Given the description of an element on the screen output the (x, y) to click on. 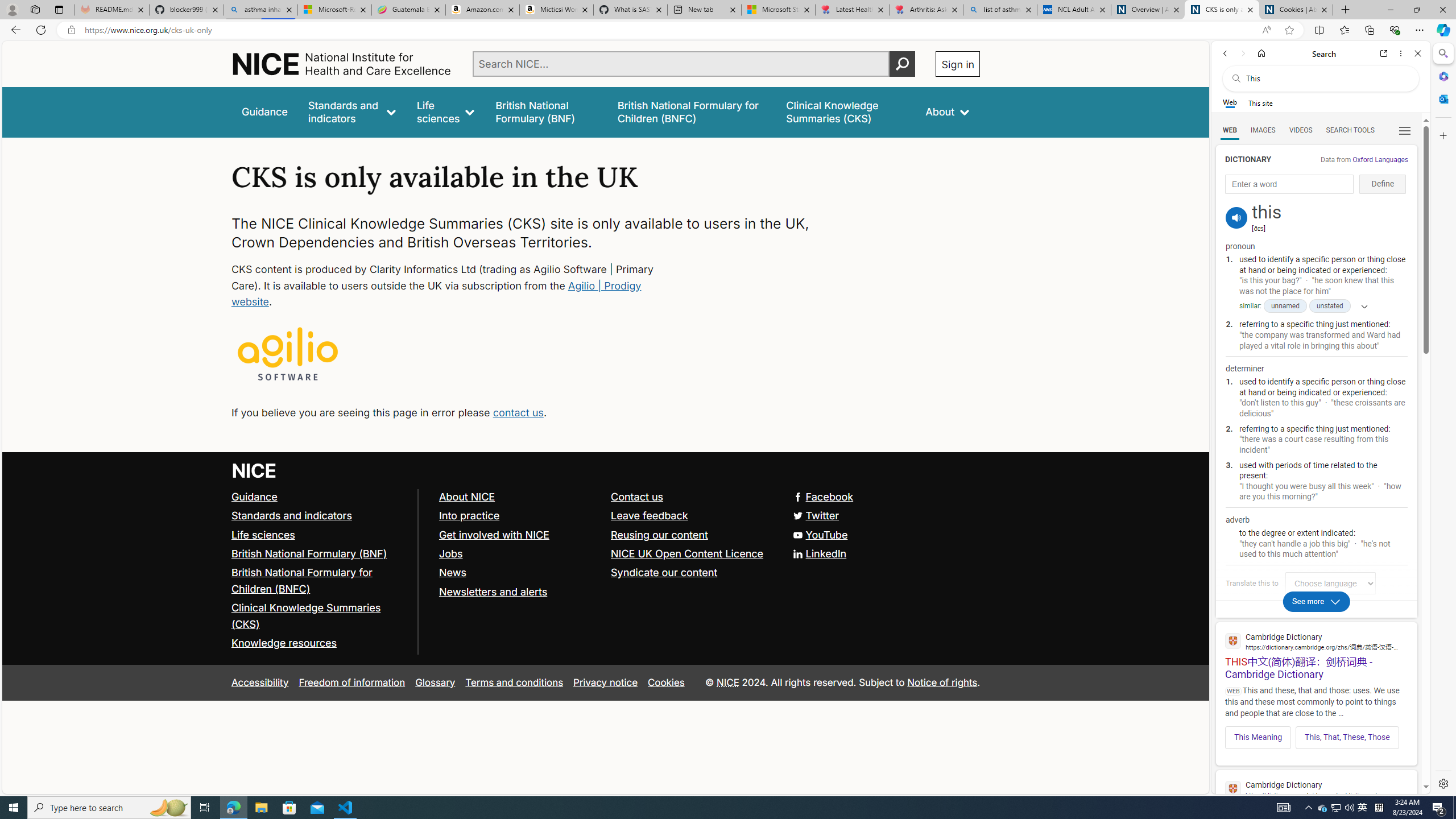
Terms and conditions (514, 682)
British National Formulary for Children (BNFC) (301, 579)
Show more (1360, 305)
Agilio | Prodigy website (436, 293)
Privacy notice (605, 682)
